Given the description of an element on the screen output the (x, y) to click on. 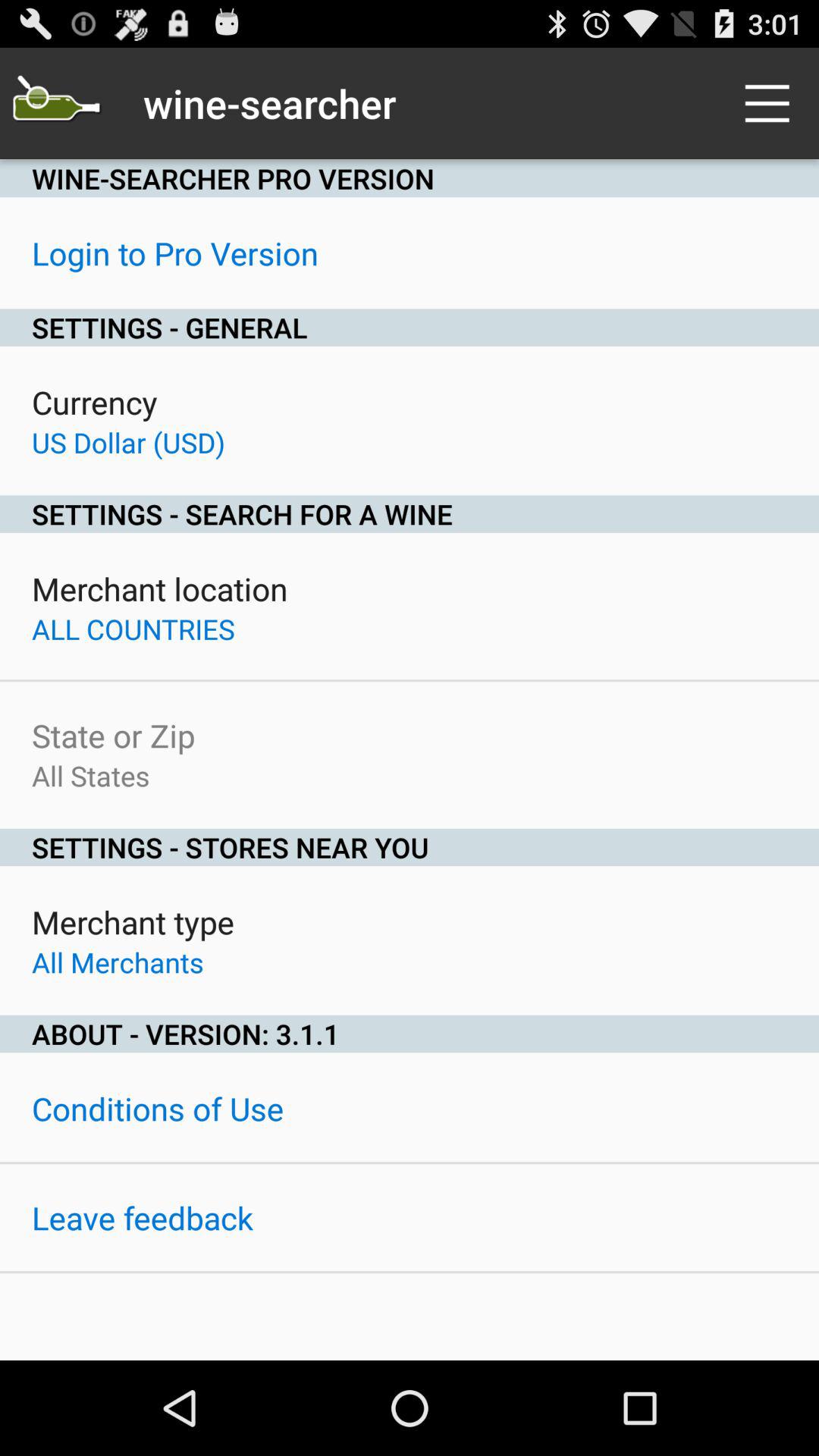
launch item above wine searcher pro (55, 103)
